Given the description of an element on the screen output the (x, y) to click on. 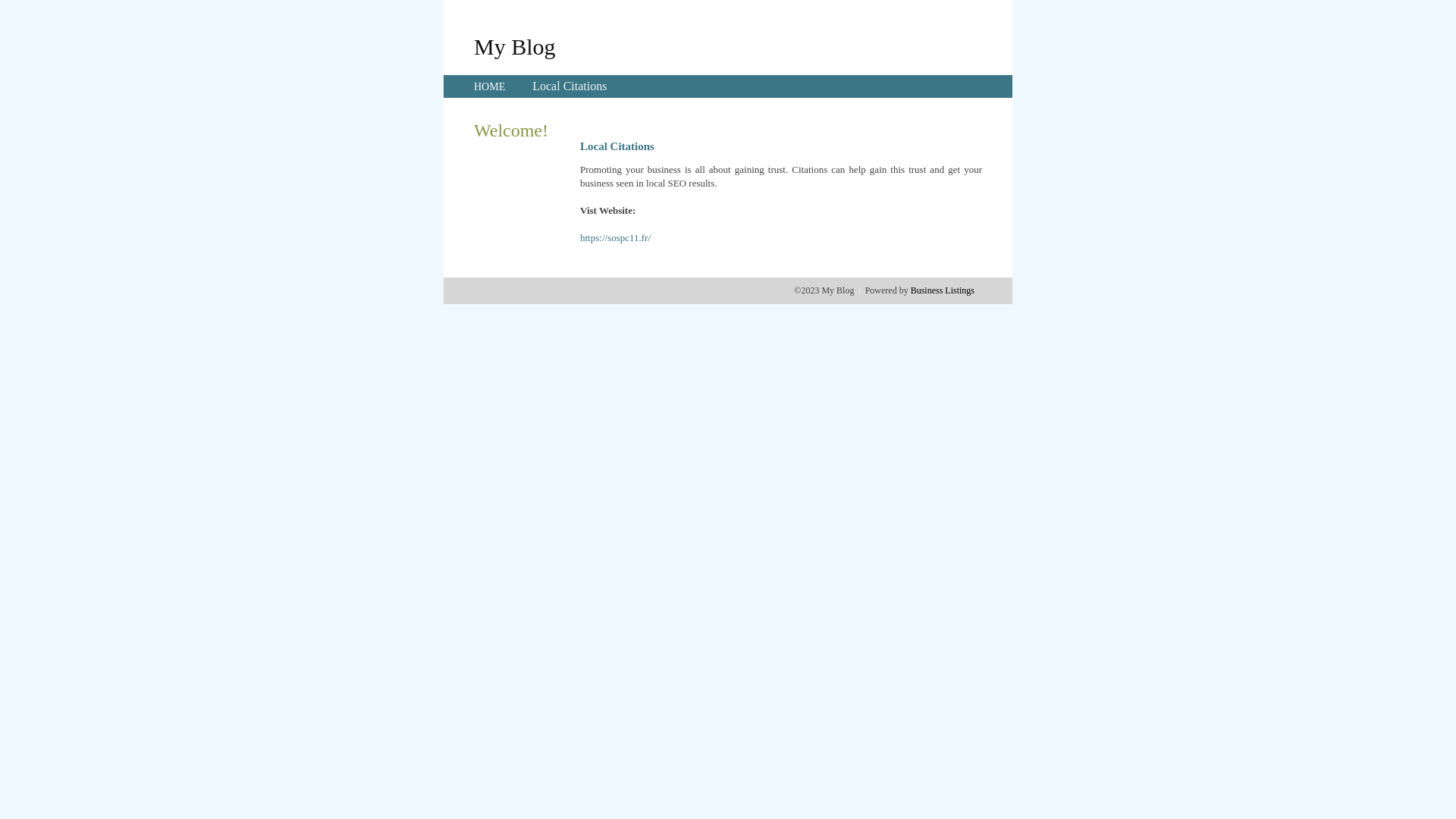
https://sospc11.fr/ Element type: text (615, 237)
My Blog Element type: text (514, 46)
Business Listings Element type: text (942, 290)
HOME Element type: text (489, 86)
Local Citations Element type: text (569, 85)
